Given the description of an element on the screen output the (x, y) to click on. 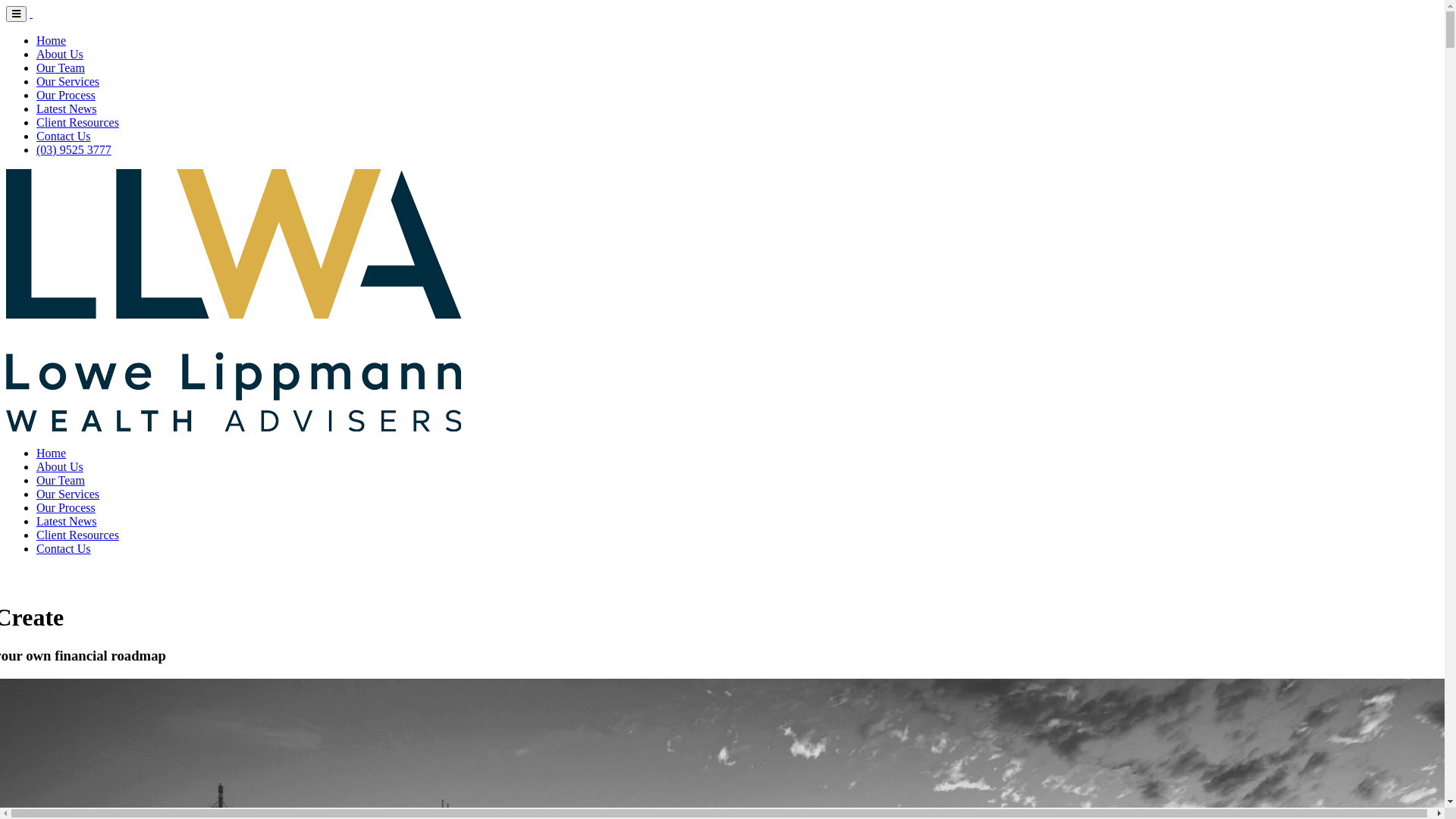
Latest News Element type: text (66, 108)
Client Resources Element type: text (77, 122)
Home Element type: text (50, 452)
About Us Element type: text (59, 466)
Client Resources Element type: text (77, 534)
Home Element type: text (50, 40)
Latest News Element type: text (66, 520)
Our Process Element type: text (65, 94)
Contact Us Element type: text (63, 135)
About Us Element type: text (59, 53)
(03) 9525 3777 Element type: text (73, 149)
Our Team Element type: text (60, 67)
Contact Us Element type: text (63, 548)
Our Process Element type: text (65, 507)
Our Services Element type: text (67, 81)
Our Services Element type: text (67, 493)
Our Team Element type: text (60, 479)
